Given the description of an element on the screen output the (x, y) to click on. 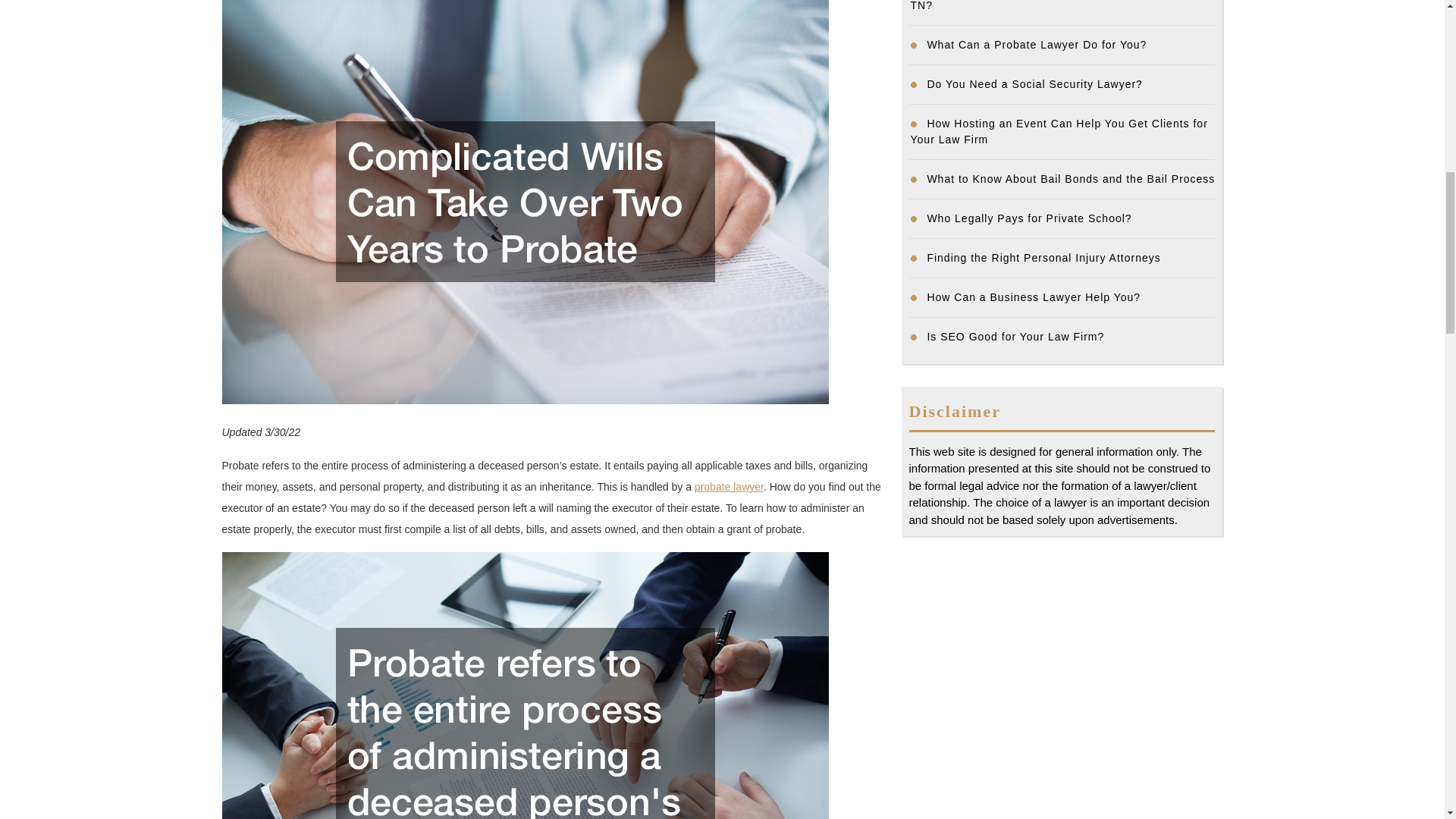
Finding the Right Personal Injury Attorneys (1043, 257)
What to Know About Bail Bonds and the Bail Process (1070, 178)
Is SEO Good for Your Law Firm? (1014, 336)
Do You Need a Social Security Lawyer? (1033, 83)
Why Should You Hire a DUI Lawyer in Nashville, TN? (1049, 5)
What Can a Probate Lawyer Do for You? (1036, 44)
probate lawyer (728, 486)
How Can a Business Lawyer Help You? (1033, 297)
Who Legally Pays for Private School? (1028, 218)
